Given the description of an element on the screen output the (x, y) to click on. 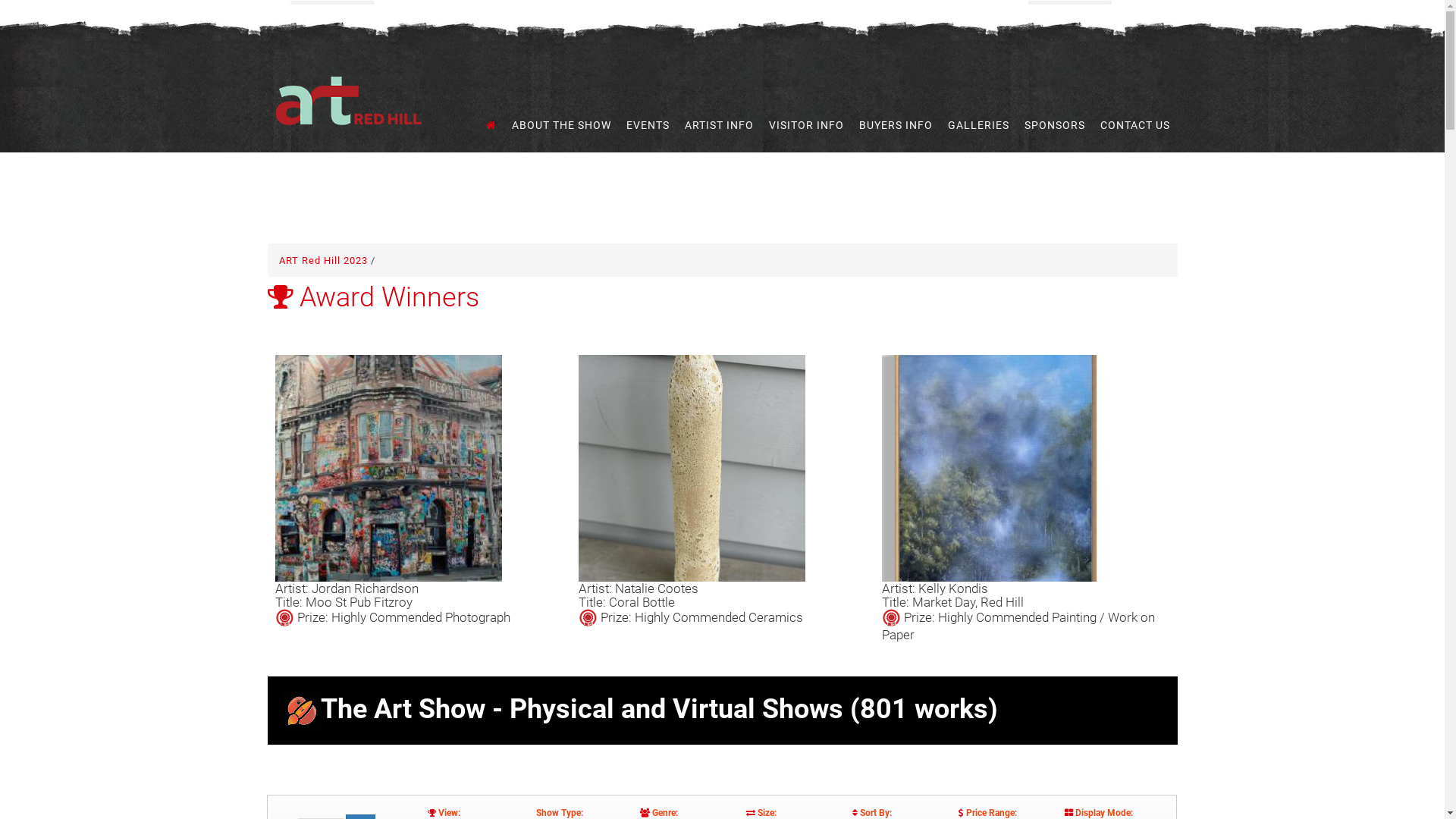
This Item is a Prize Winner Element type: hover (283, 617)
This Item is a Prize Winner Element type: hover (890, 617)
BUYERS INFO Element type: text (895, 125)
VISITOR INFO Element type: text (805, 125)
This Item is a Prize Winner Element type: hover (586, 617)
GALLERIES Element type: text (977, 125)
ART Red Hill 2023 Element type: text (324, 260)
CONTACT US Element type: text (1135, 125)
ABOUT THE SHOW Element type: text (561, 125)
Award Winners Element type: text (385, 297)
SPONSORS Element type: text (1054, 125)
EVENTS Element type: text (647, 125)
ARTIST INFO Element type: text (719, 125)
The Art Show - Physical and Virtual Shows (801 works) Element type: text (721, 710)
